Given the description of an element on the screen output the (x, y) to click on. 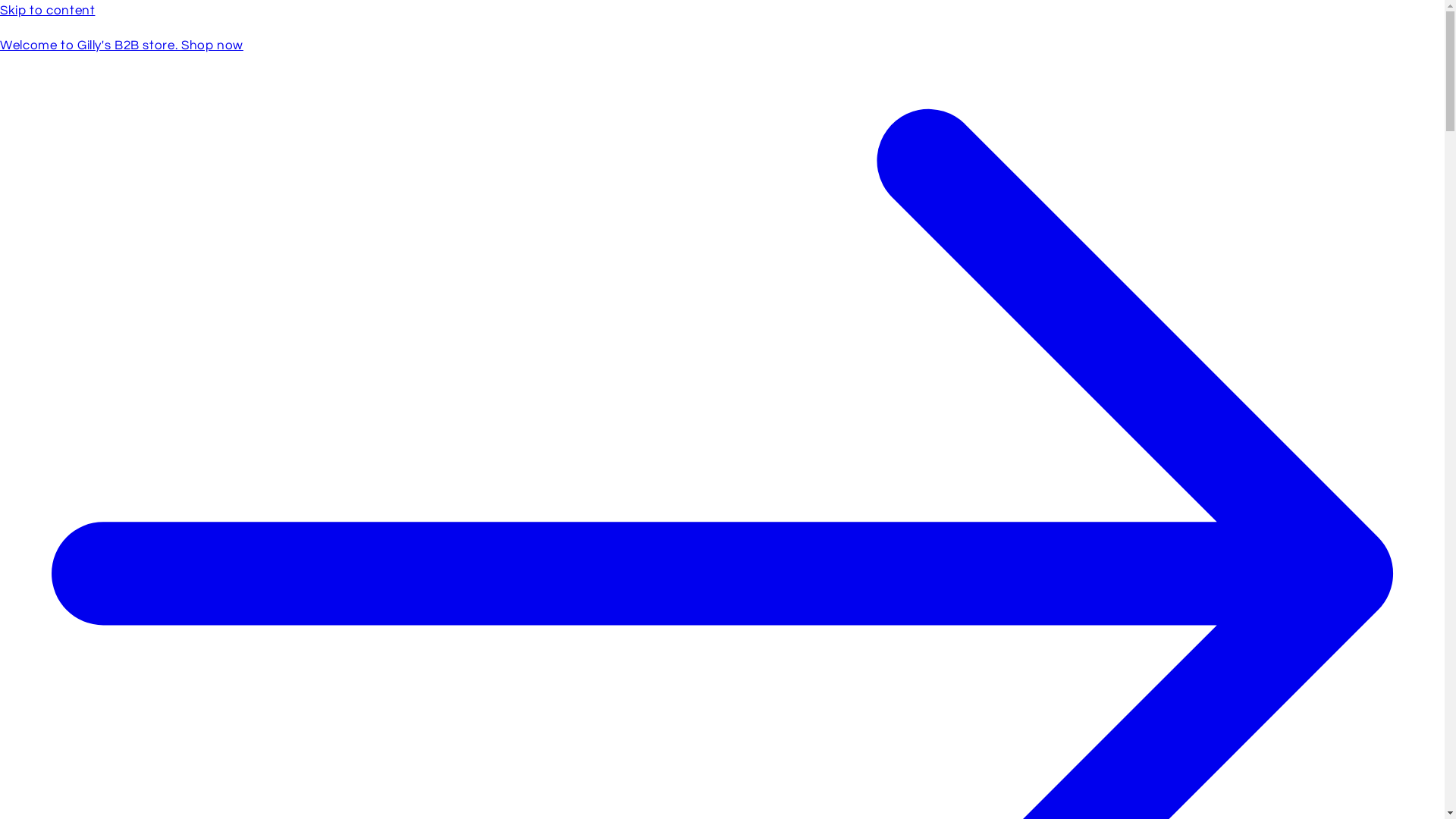
Skip to content Element type: text (722, 11)
